Given the description of an element on the screen output the (x, y) to click on. 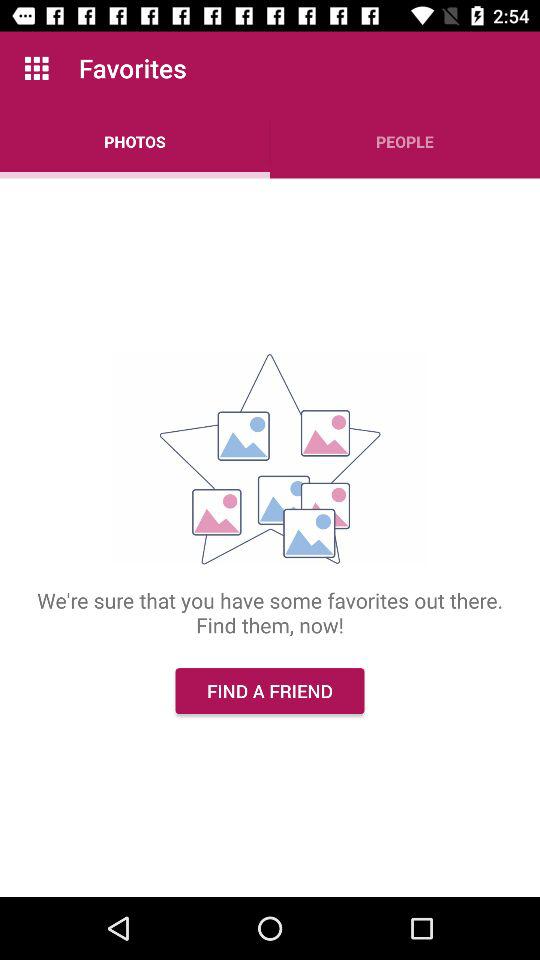
jump until people item (405, 141)
